Given the description of an element on the screen output the (x, y) to click on. 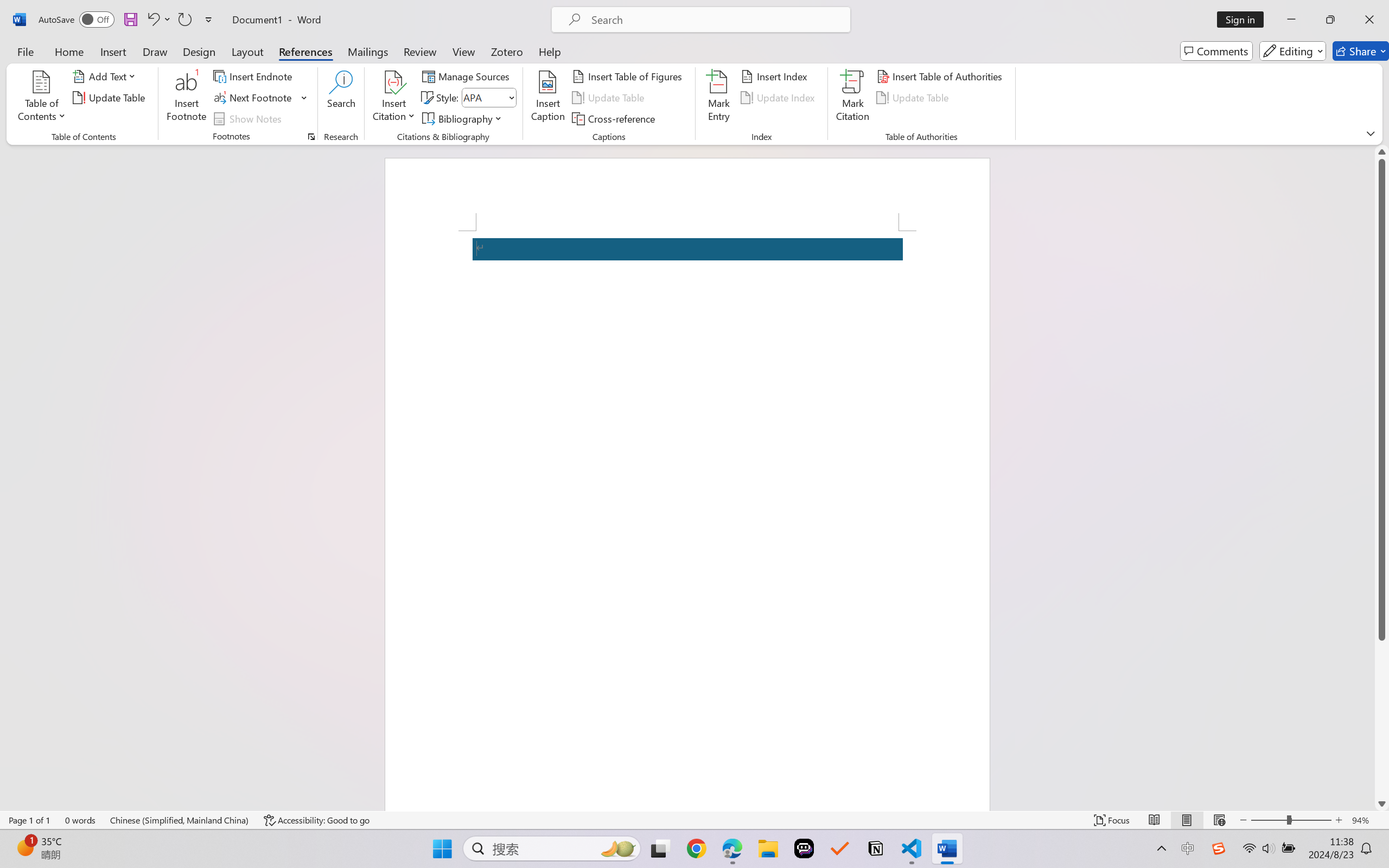
Insert Table of Authorities... (941, 75)
Line down (1382, 803)
Sign in (1244, 19)
